Given the description of an element on the screen output the (x, y) to click on. 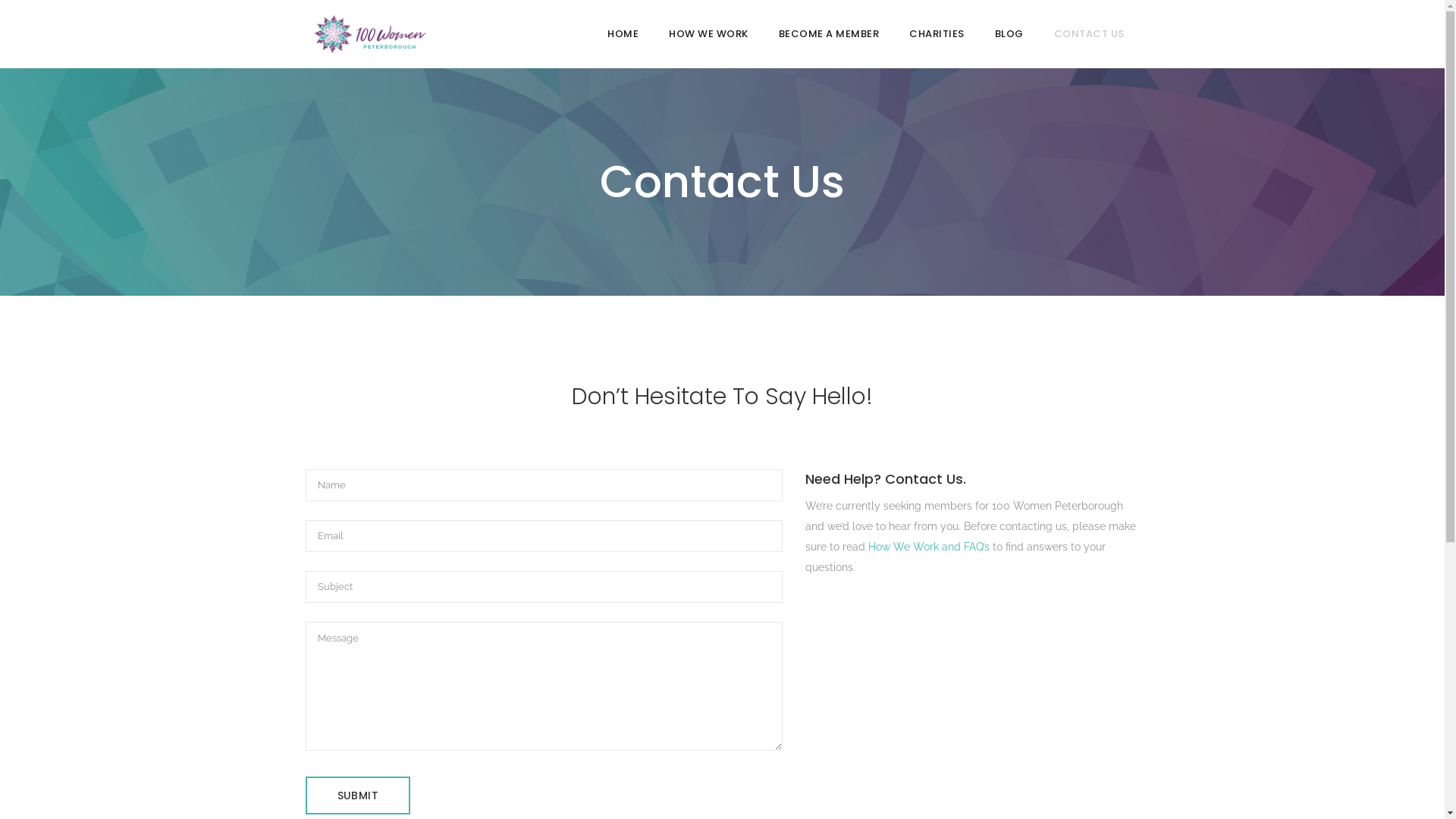
CHARITIES Element type: text (936, 34)
HOME Element type: text (622, 34)
Submit Element type: text (356, 795)
BECOME A MEMBER Element type: text (828, 34)
HOW WE WORK Element type: text (708, 34)
CONTACT US Element type: text (1088, 34)
BLOG Element type: text (1008, 34)
